Given the description of an element on the screen output the (x, y) to click on. 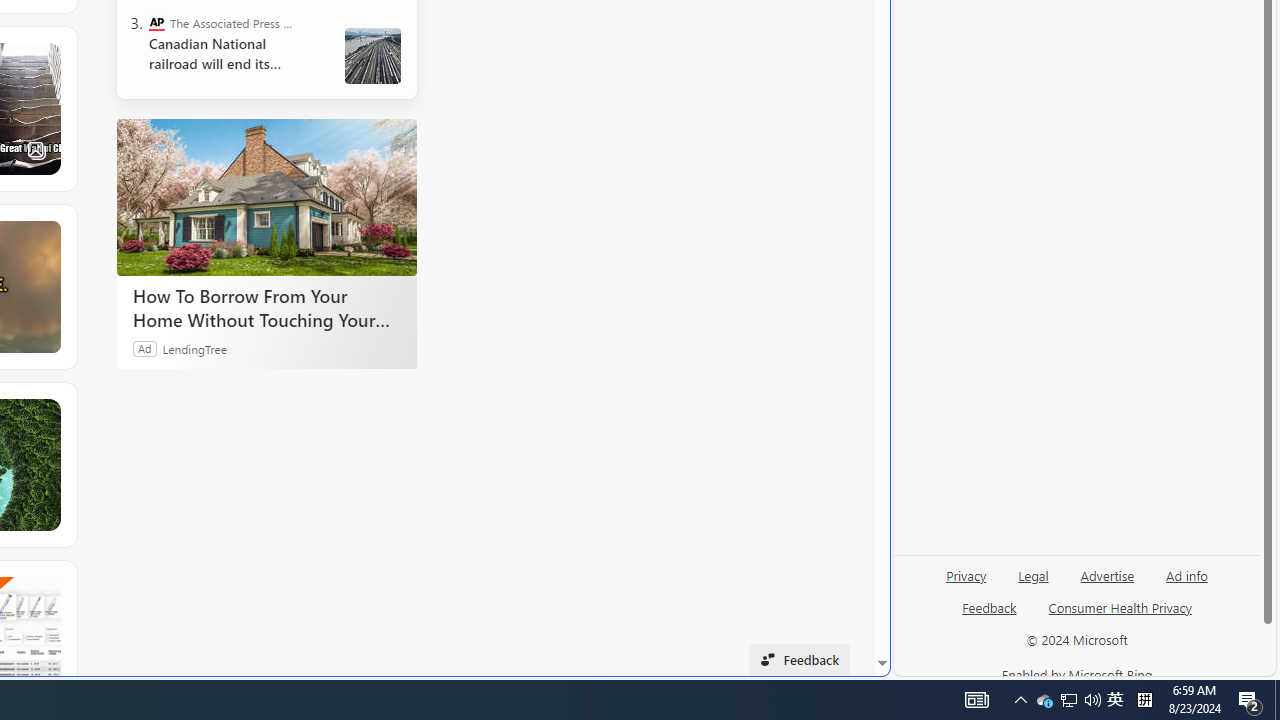
The Associated Press - Business News (156, 22)
 Canada Railroads Unions (372, 56)
